Given the description of an element on the screen output the (x, y) to click on. 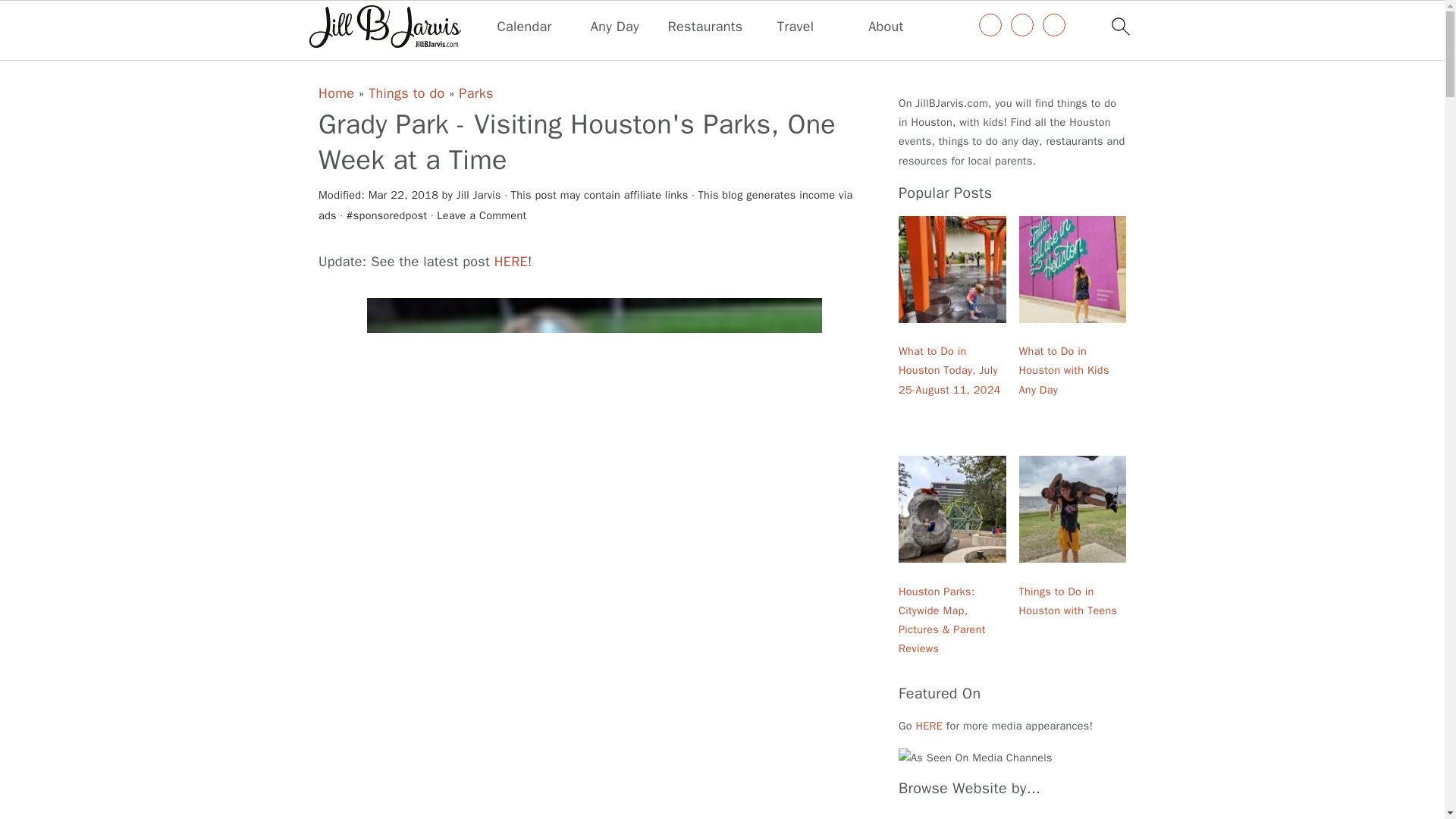
Any Day (615, 27)
Restaurants (705, 27)
Calendar (524, 27)
About (884, 27)
search icon (1119, 26)
Travel (795, 27)
